Given the description of an element on the screen output the (x, y) to click on. 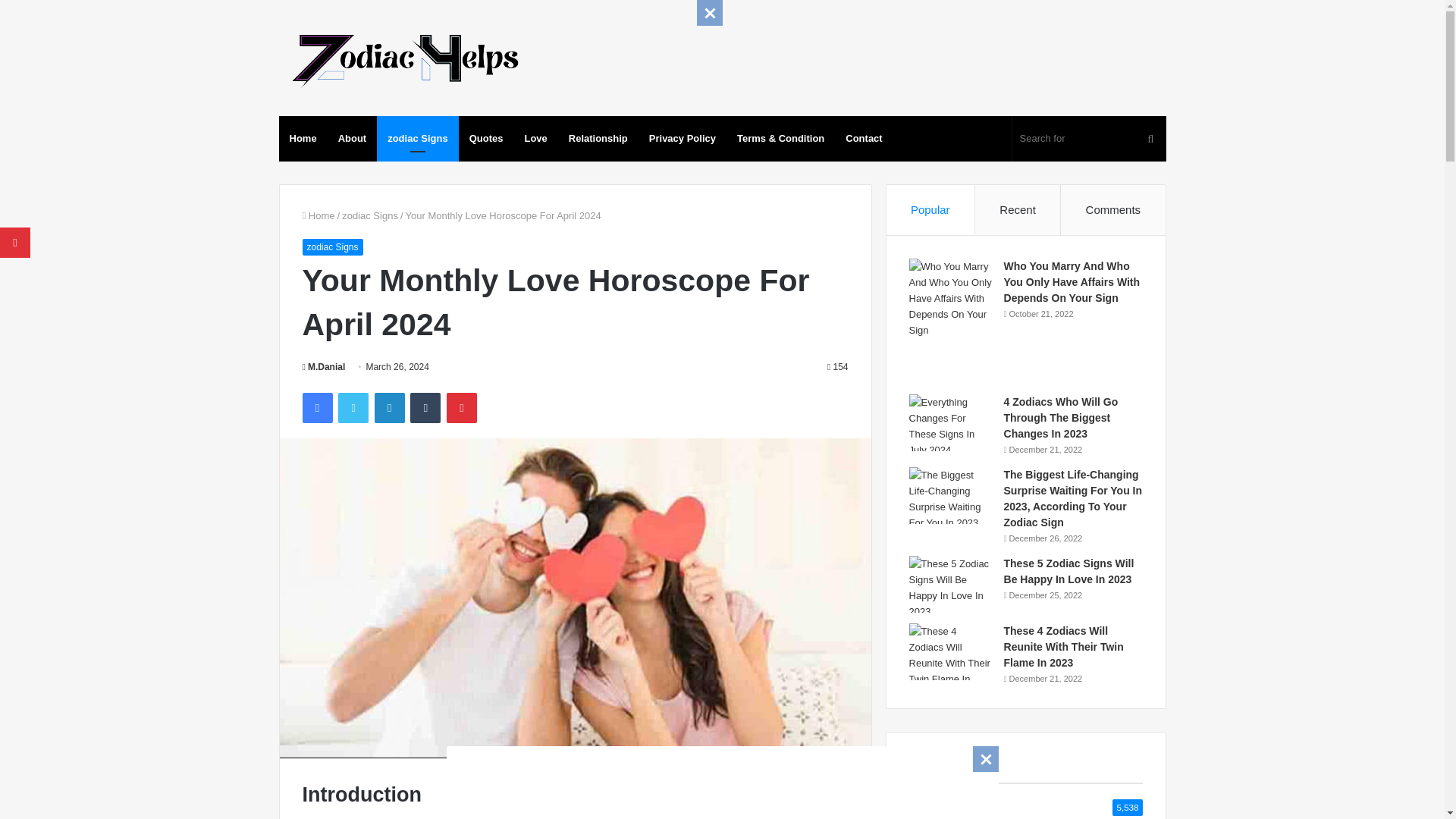
About (352, 138)
Search for (1088, 138)
Facebook (316, 408)
Relationship (598, 138)
Contact (863, 138)
zodiac Signs (331, 247)
M.Danial (323, 366)
zodiac Signs (417, 138)
Home (317, 215)
Pinterest (461, 408)
Twitter (352, 408)
Tumblr (425, 408)
Tumblr (425, 408)
Quotes (485, 138)
Love (535, 138)
